Given the description of an element on the screen output the (x, y) to click on. 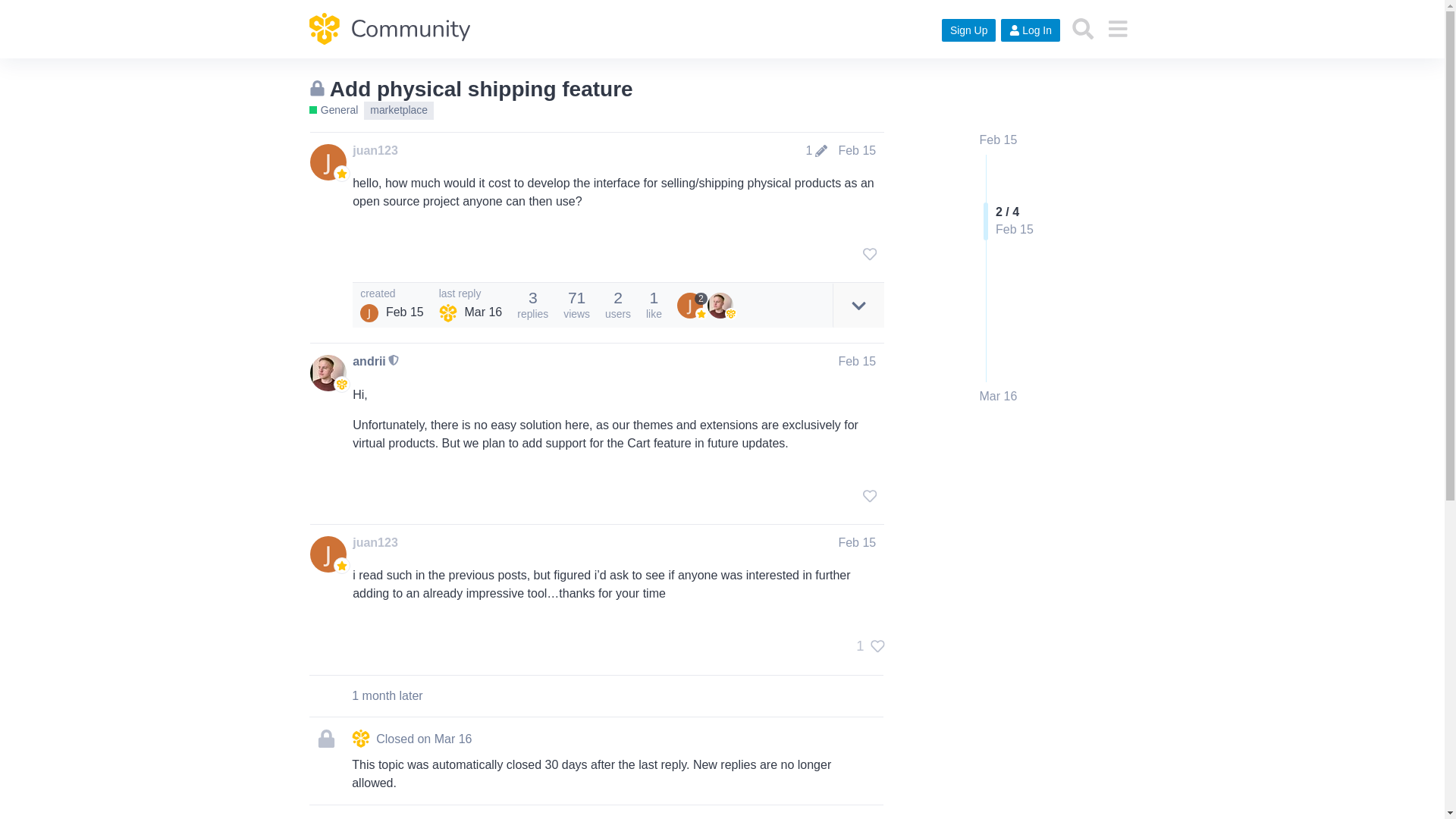
juan123 (368, 312)
Add physical shipping feature (481, 88)
last reply (470, 294)
system (448, 312)
Feb 15 (998, 139)
Feb 15 (857, 150)
Sign Up (968, 29)
juan123 (374, 150)
expand topic details (857, 304)
menu (1117, 28)
Search (1082, 28)
Log In (1030, 29)
Feb 15 (857, 360)
post last edited on Feb 15, 2024 3:56 pm (815, 151)
This topic is closed; it no longer accepts new replies (316, 88)
